Given the description of an element on the screen output the (x, y) to click on. 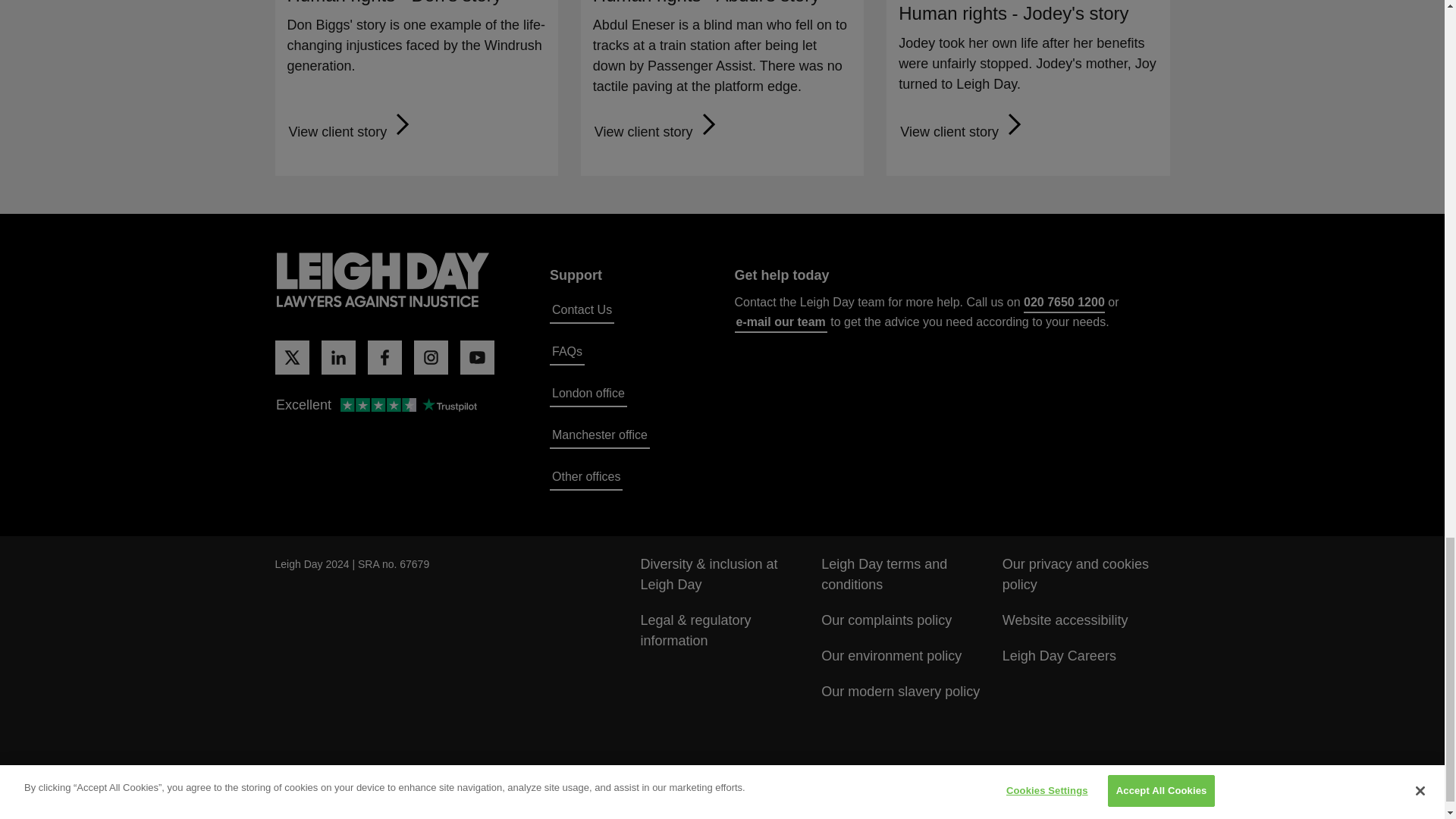
View Human rights - Abdul's story (657, 131)
Customer reviews powered by Trustpilot (375, 406)
View Human rights - Jodey's story (962, 131)
View Human rights - Don's story (351, 131)
